Given the description of an element on the screen output the (x, y) to click on. 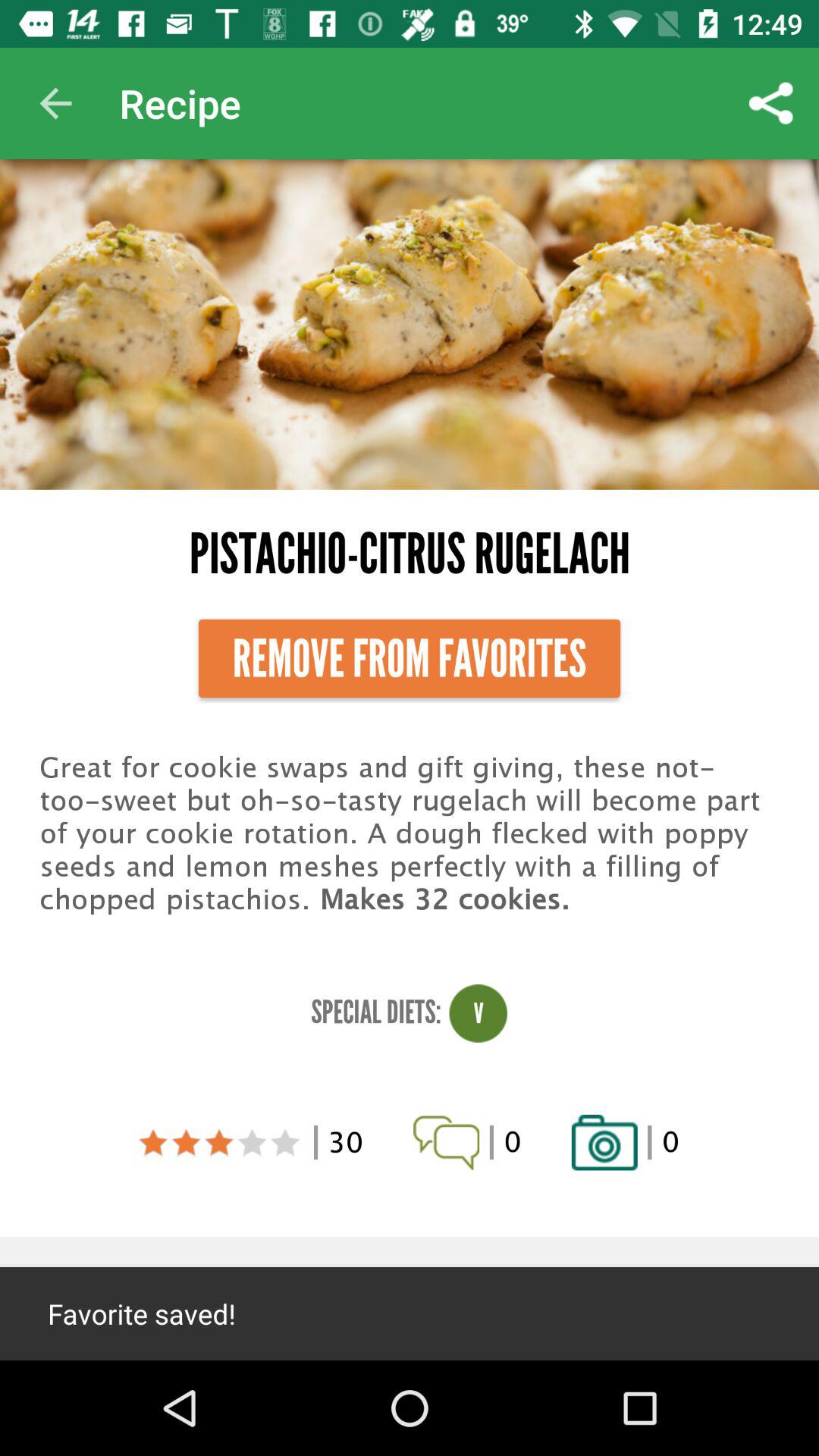
turn off the item next to recipe item (771, 103)
